Given the description of an element on the screen output the (x, y) to click on. 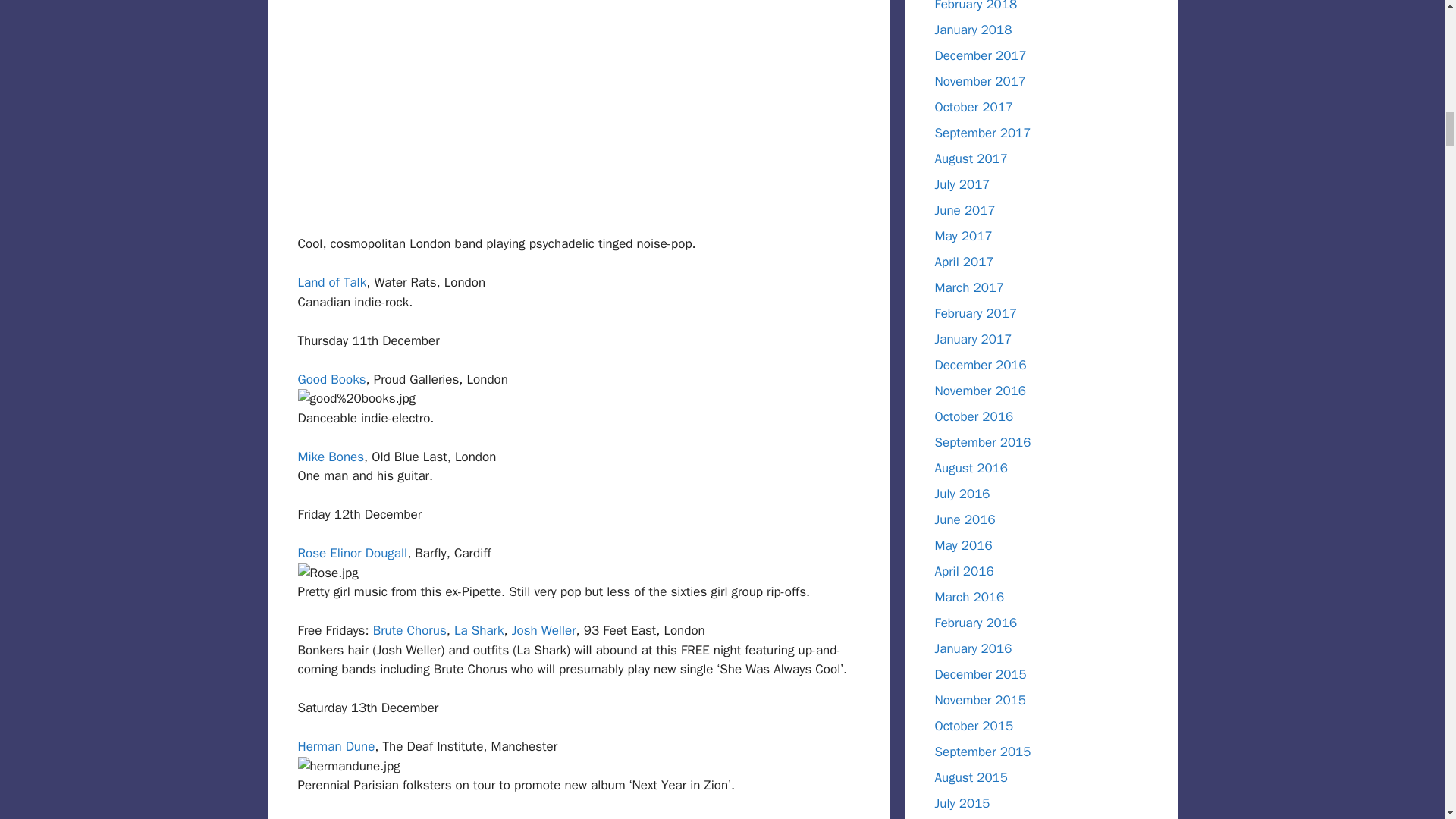
Glissando (325, 817)
Mike Bones (330, 456)
Rose Elinor Dougall (352, 553)
Brute Chorus (409, 630)
La Shark (478, 630)
Good Books (331, 379)
Land of Talk (331, 282)
Herman Dune (335, 746)
Josh Weller (544, 630)
